Given the description of an element on the screen output the (x, y) to click on. 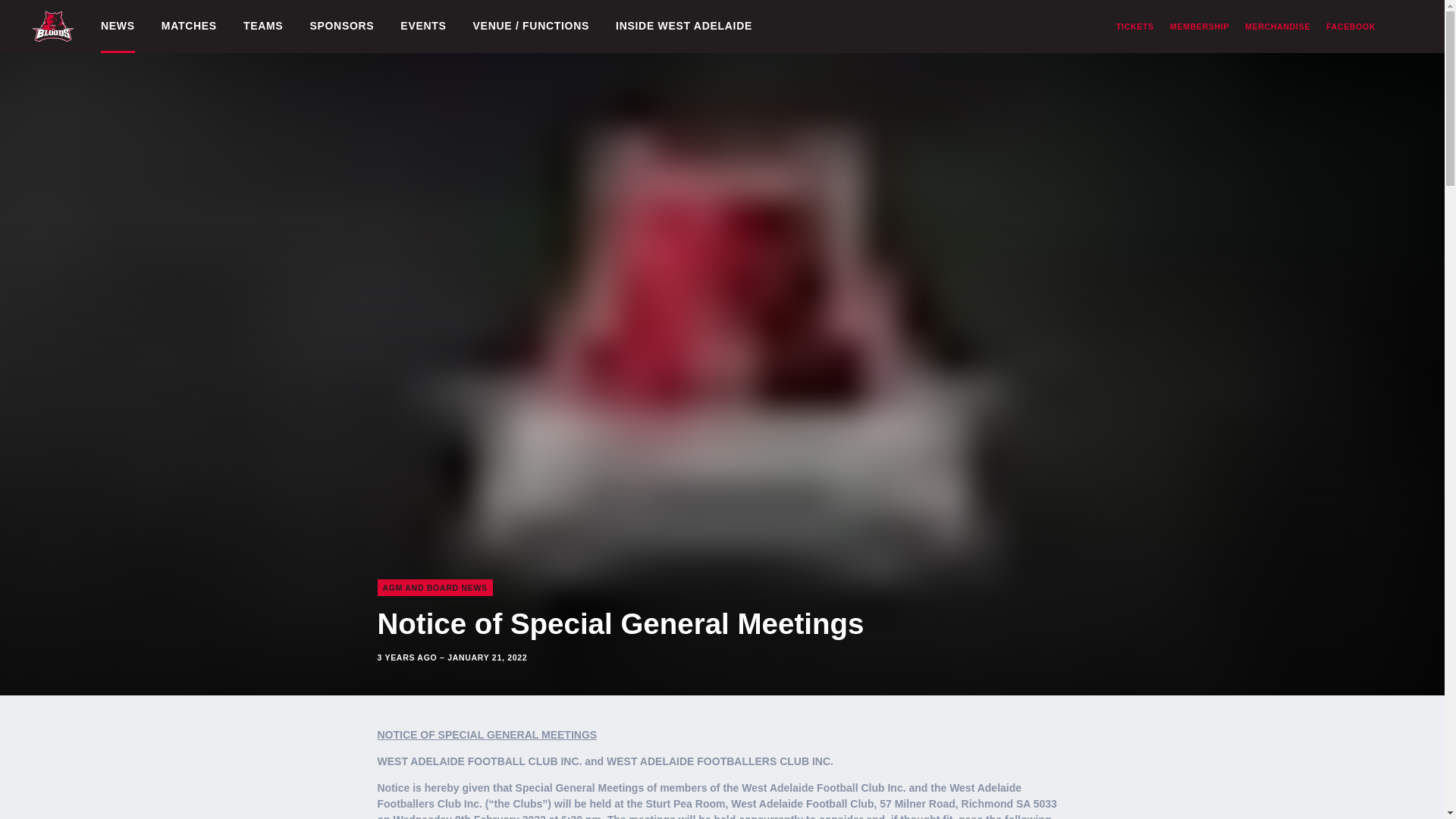
MATCHES (188, 26)
West Adelaide Football Club (53, 25)
MERCHANDISE (1277, 26)
MEMBERSHIP (1199, 26)
INSIDE WEST ADELAIDE (683, 26)
SPONSORS (341, 26)
FACEBOOK (1350, 26)
